Given the description of an element on the screen output the (x, y) to click on. 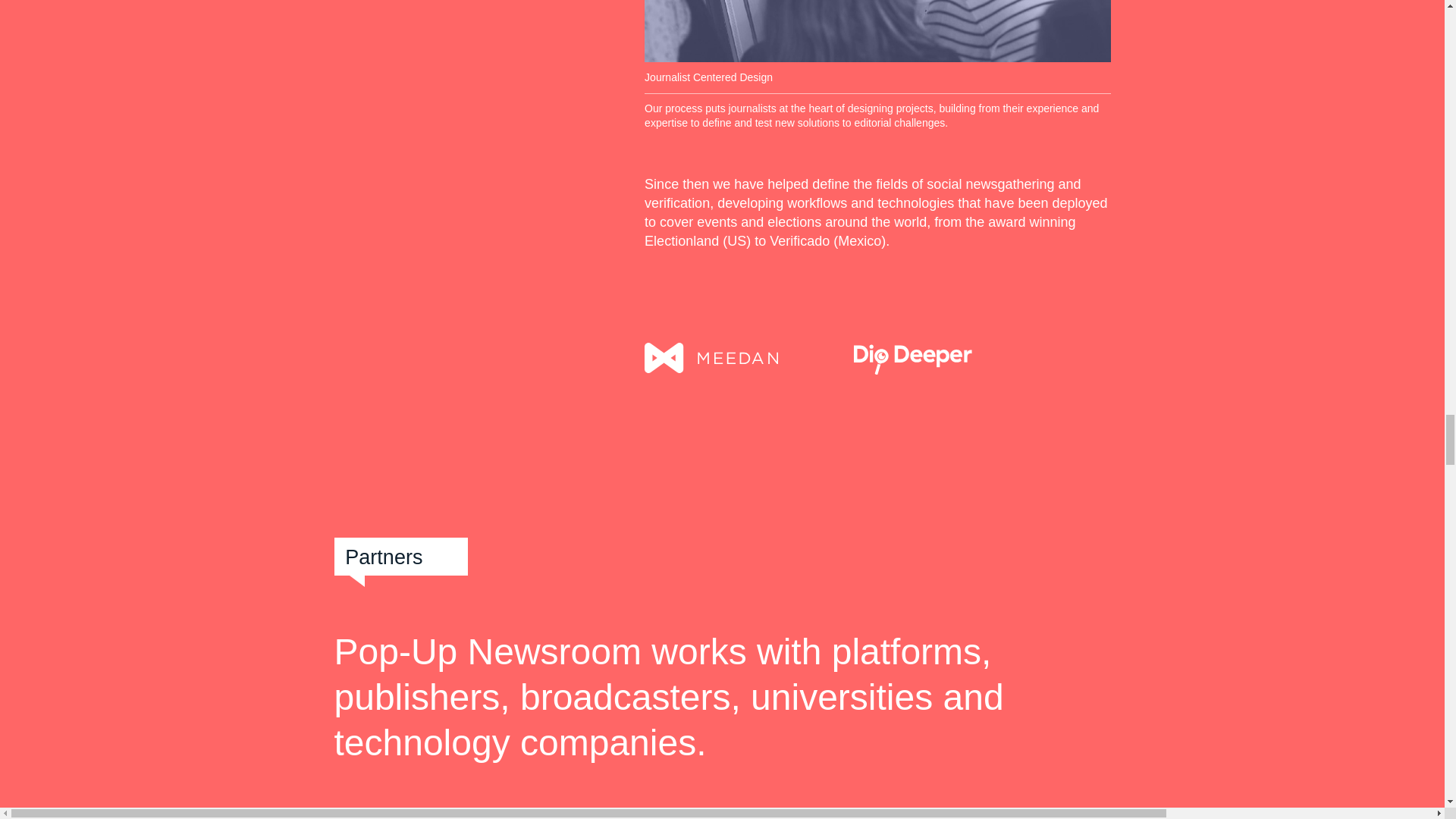
Dig Deeper (912, 359)
Meedan (711, 359)
